Given the description of an element on the screen output the (x, y) to click on. 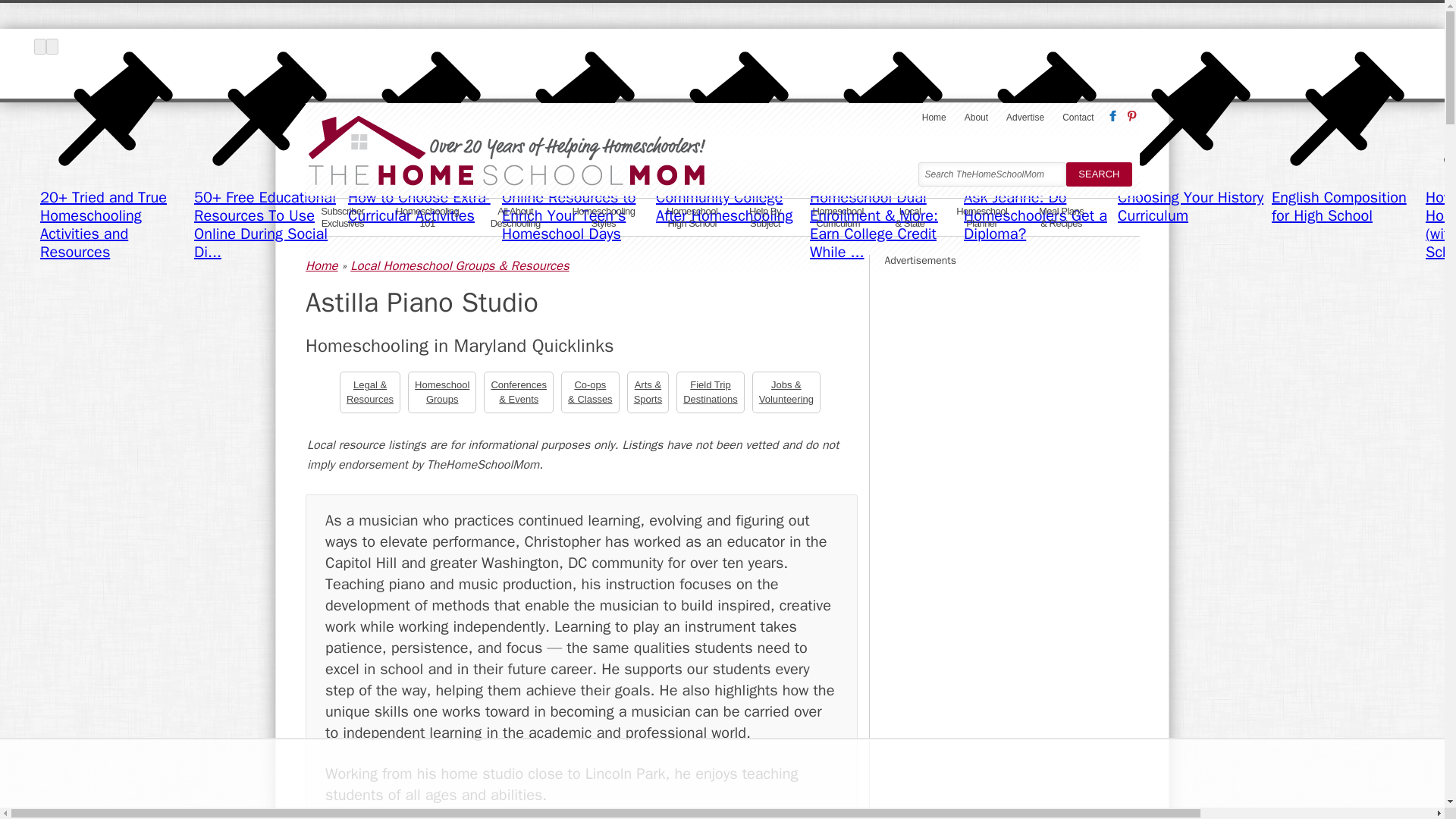
Advertise (981, 214)
Homeschooling 101: What is Homeschooling? (515, 214)
Homeschool Newsletter Subscriber Exclusives (342, 214)
Maryland Homeschool Field Trips (427, 214)
Homeschooling High School (1024, 117)
Facebook (427, 214)
About (342, 214)
Search TheHomeSchoolMom (710, 391)
Site Search (691, 214)
